Given the description of an element on the screen output the (x, y) to click on. 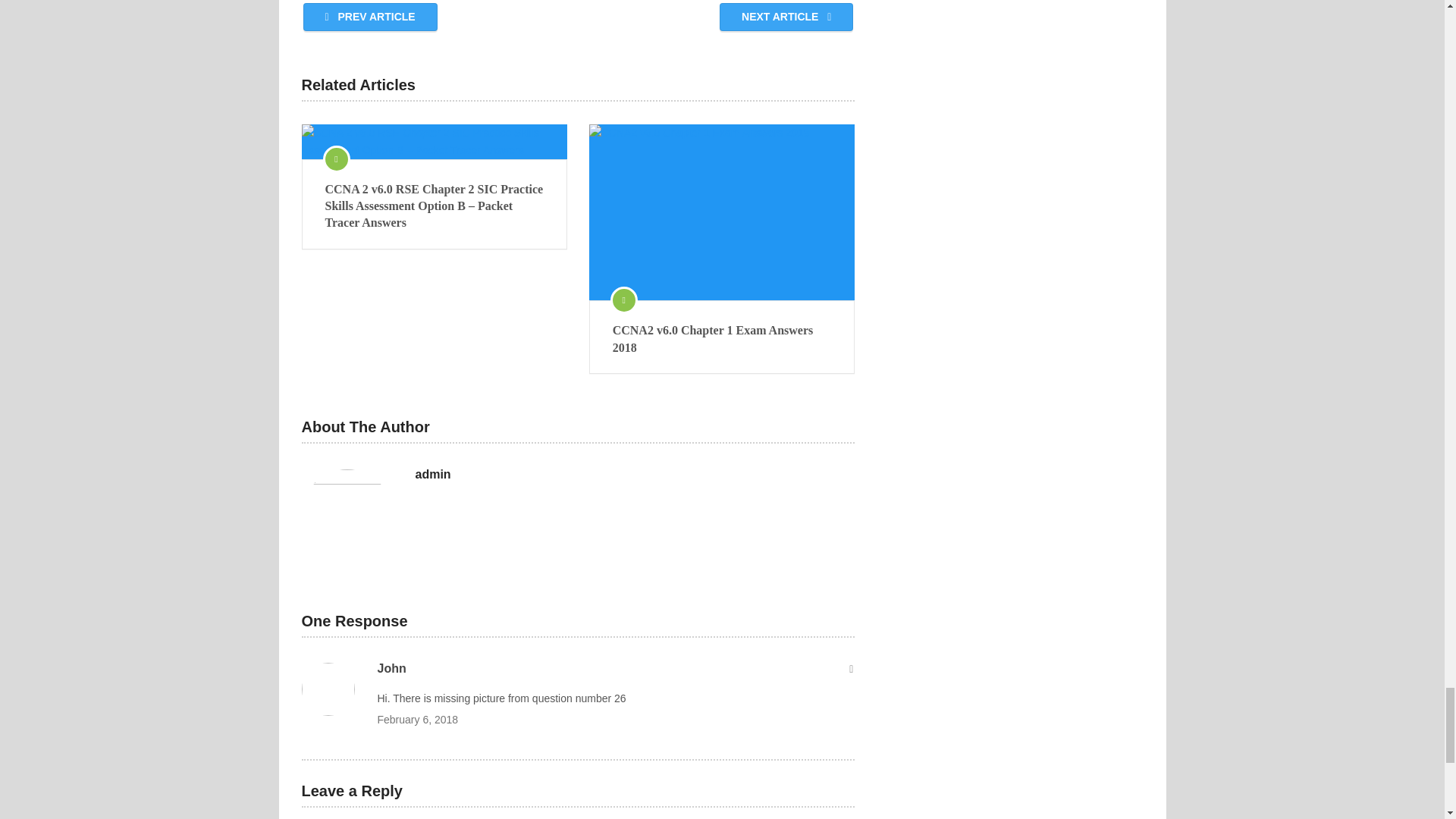
NEXT ARTICLE (786, 17)
CCNA2 v6.0 Chapter 1 Exam Answers 2018 (721, 212)
PREV ARTICLE (370, 17)
admin (432, 474)
CCNA2 v6.0 Chapter 1 Exam Answers 2018 (721, 339)
